Given the description of an element on the screen output the (x, y) to click on. 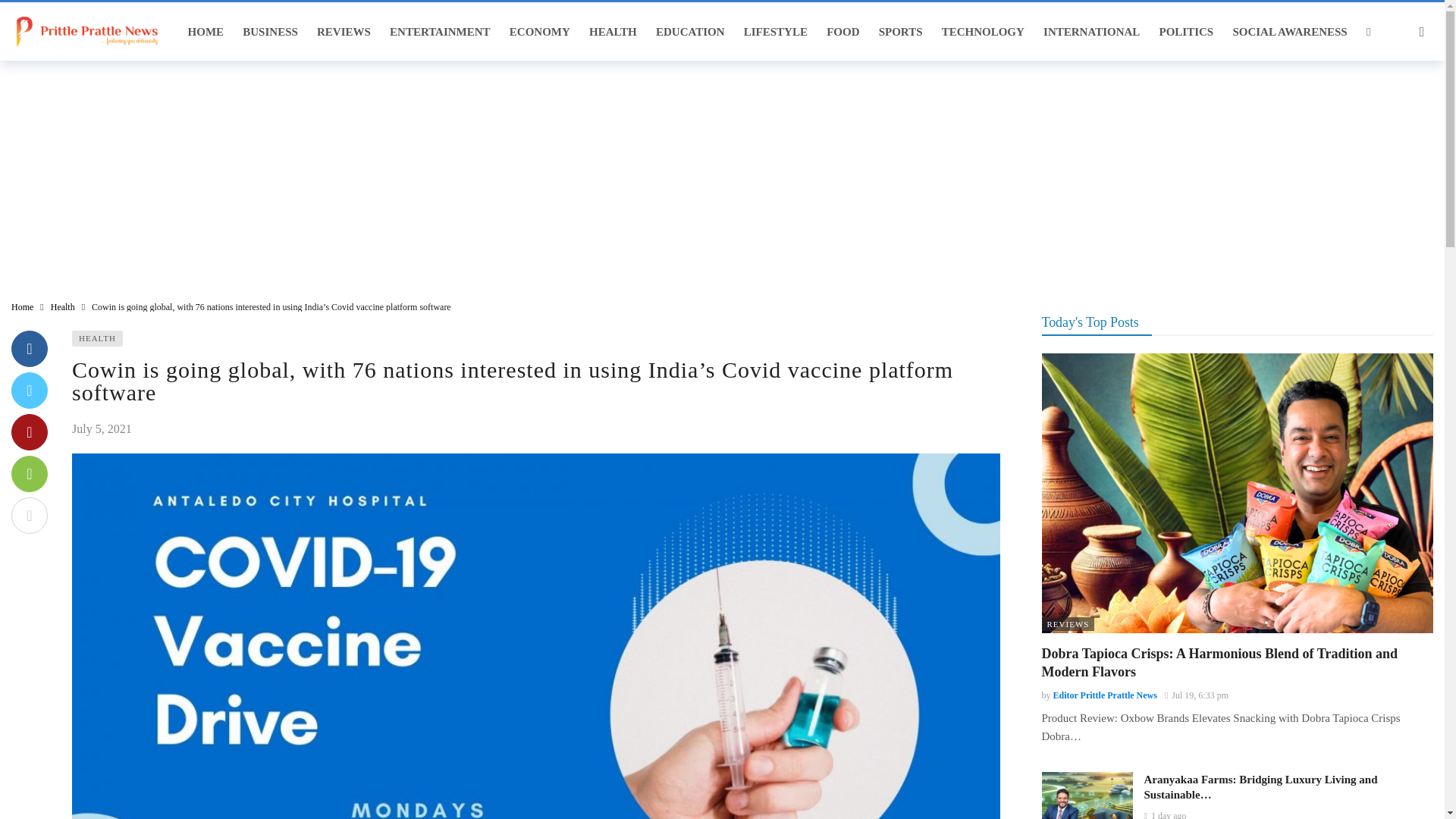
LIFESTYLE (775, 31)
EDUCATION (689, 31)
REVIEWS (343, 31)
ECONOMY (539, 31)
HEALTH (612, 31)
POLITICS (1186, 31)
ENTERTAINMENT (439, 31)
SPORTS (900, 31)
INTERNATIONAL (1091, 31)
BUSINESS (270, 31)
SOCIAL AWARENESS (1289, 31)
TECHNOLOGY (982, 31)
